Given the description of an element on the screen output the (x, y) to click on. 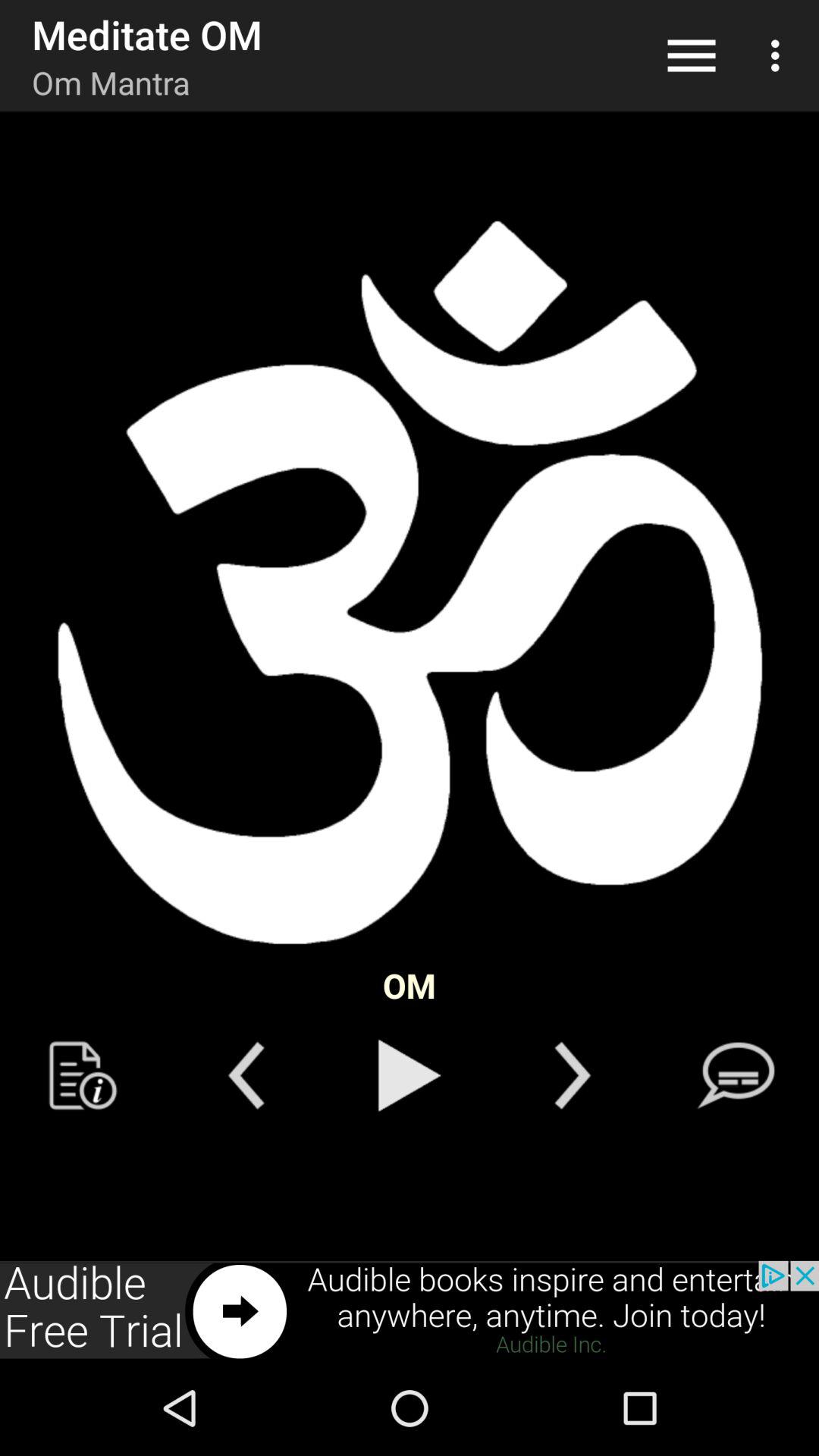
info button (82, 1075)
